Given the description of an element on the screen output the (x, y) to click on. 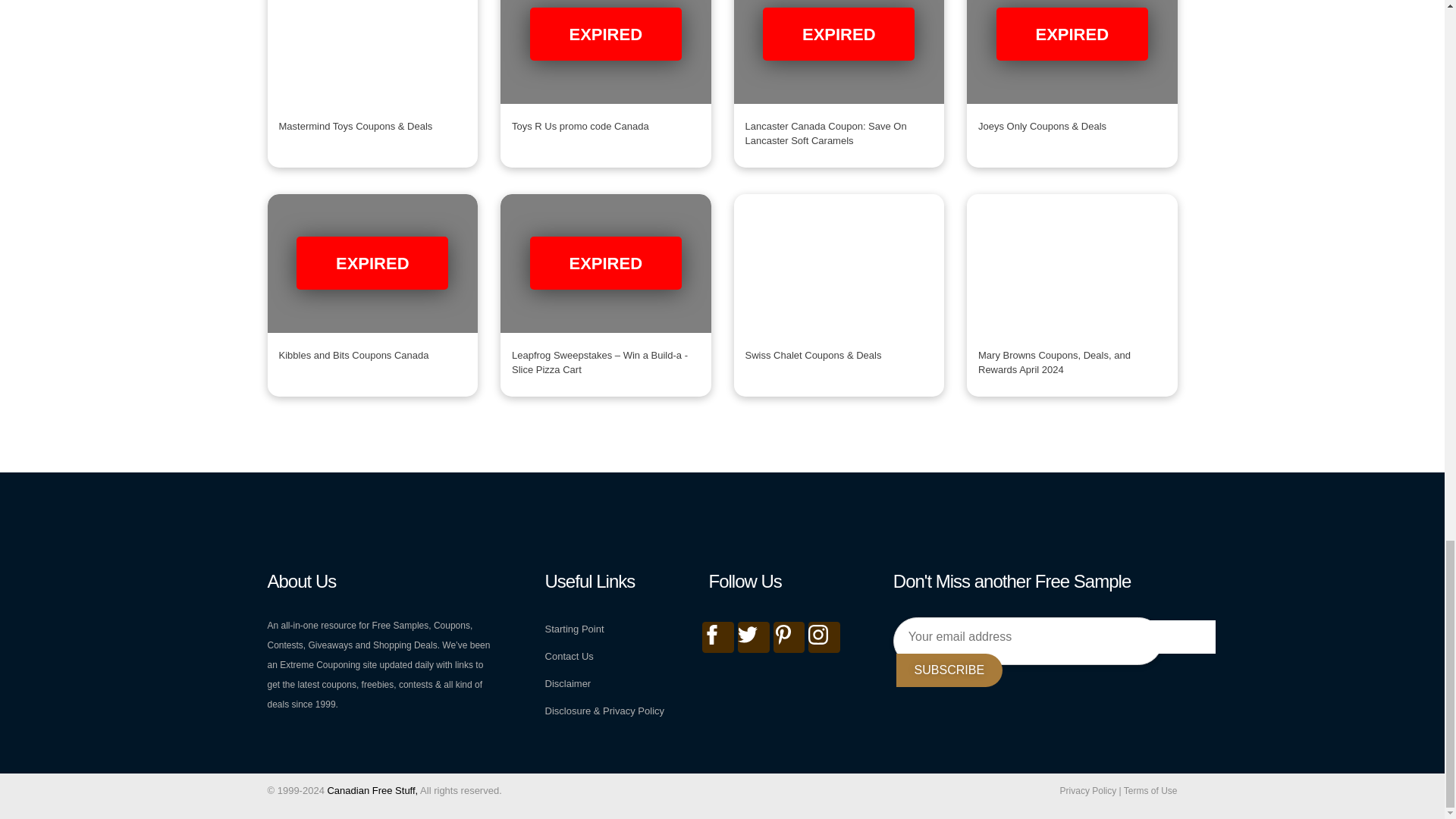
Subscribe (949, 670)
